Given the description of an element on the screen output the (x, y) to click on. 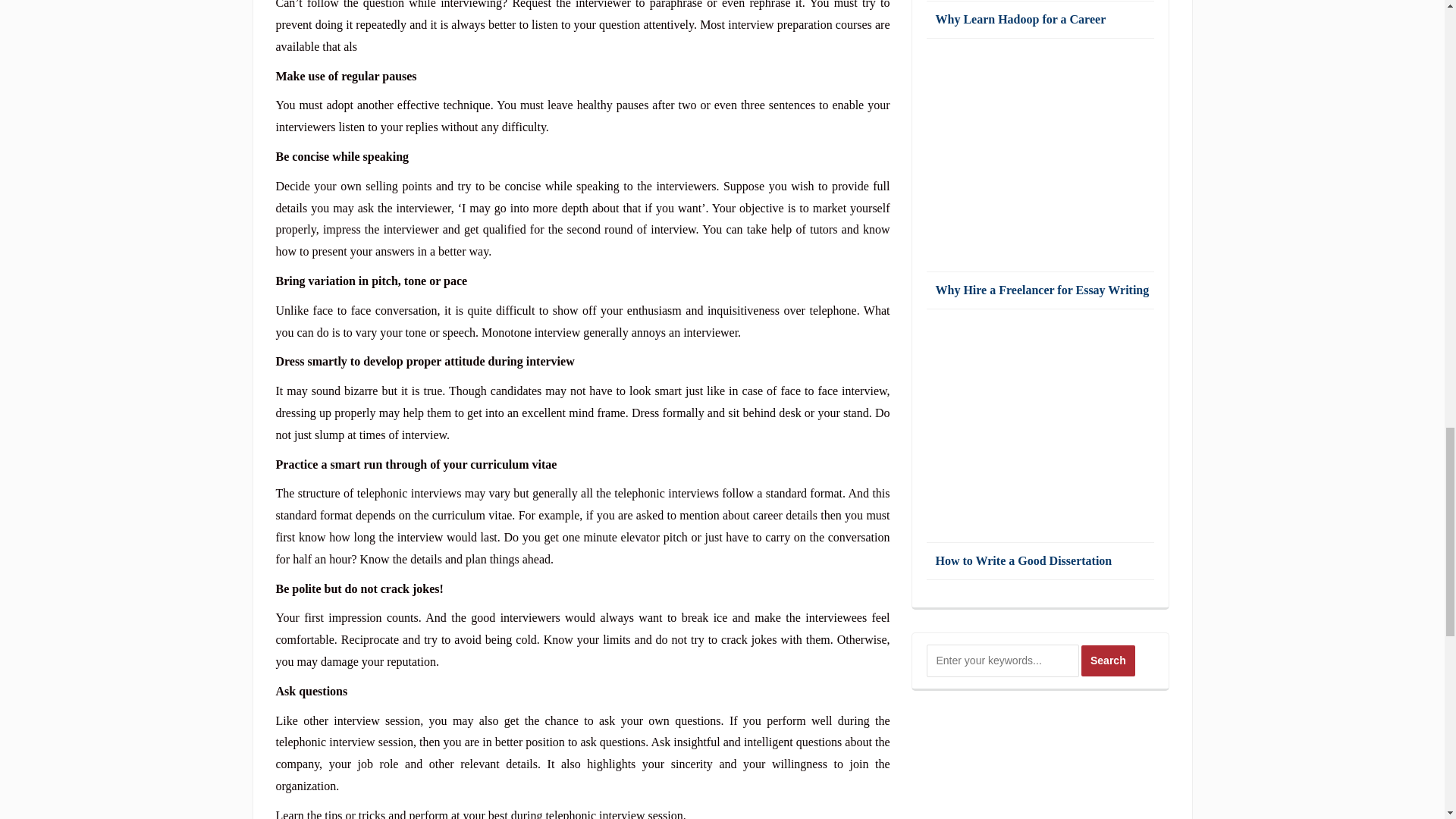
Search (1108, 660)
Search (1108, 660)
